Given the description of an element on the screen output the (x, y) to click on. 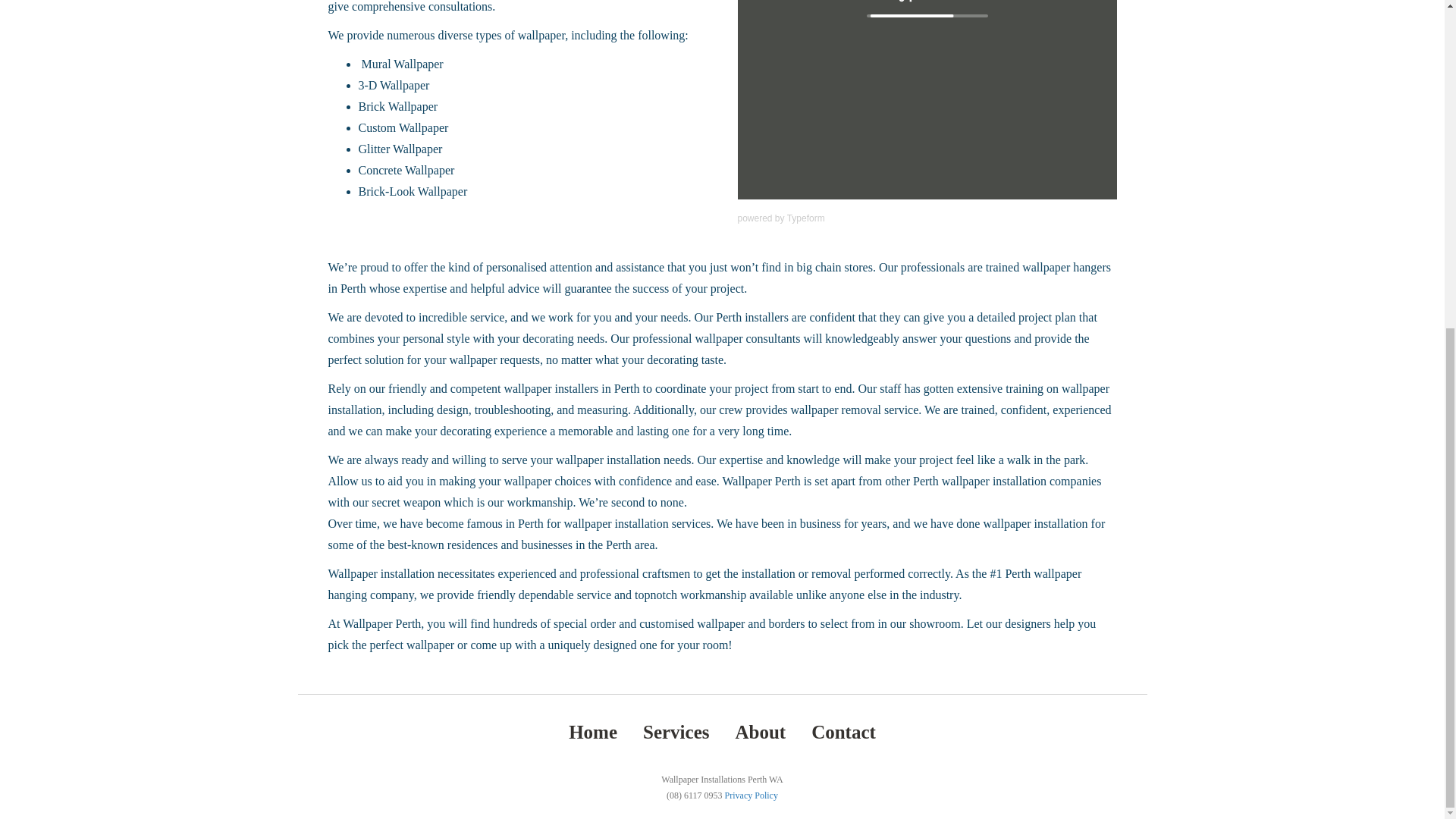
Typeform (806, 217)
About (760, 731)
typeform-embed (926, 99)
Contact (843, 731)
Home (593, 731)
Privacy Policy (751, 795)
Services (676, 731)
